Given the description of an element on the screen output the (x, y) to click on. 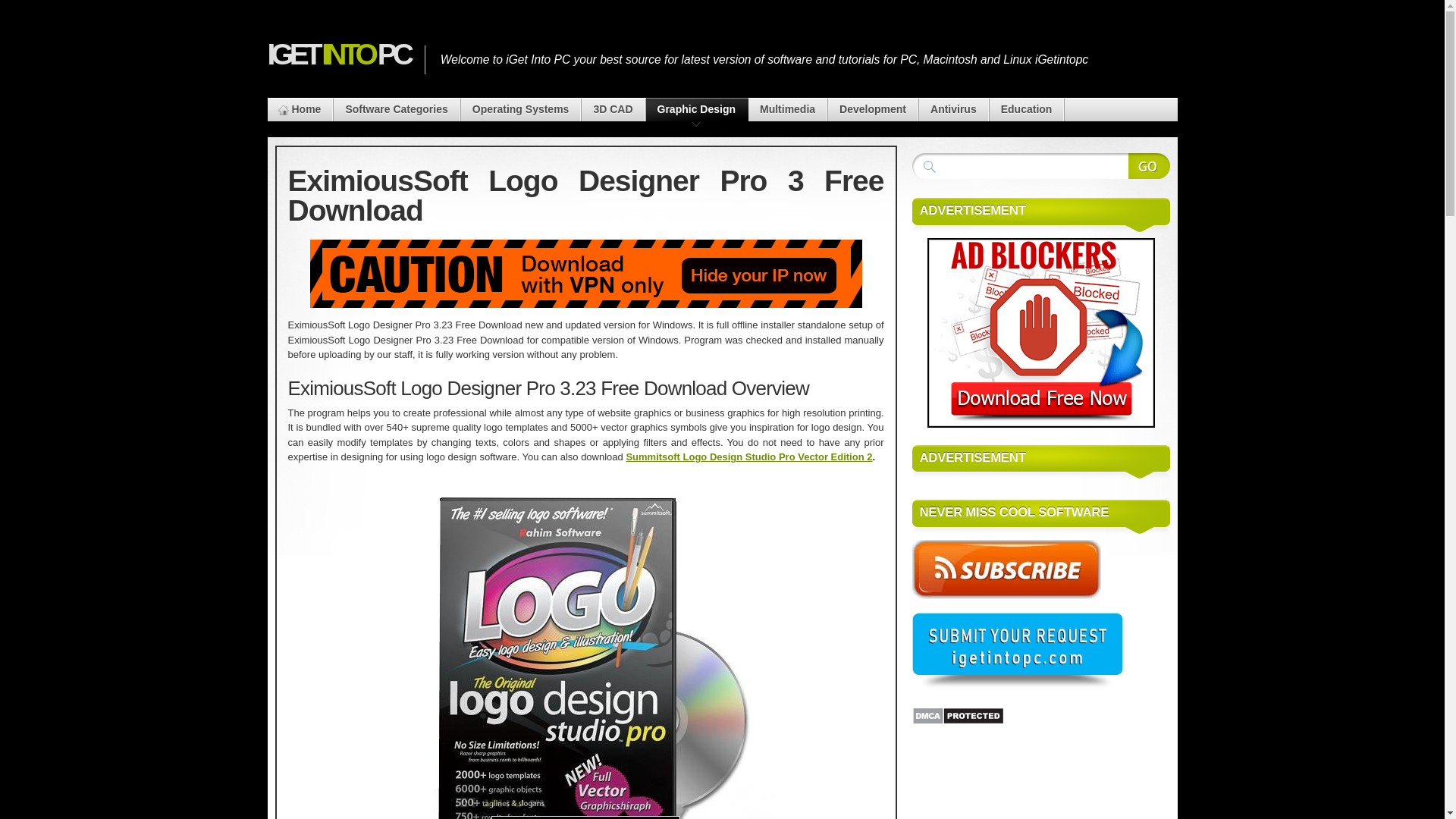
Operating Systems (520, 109)
Graphic Design (696, 109)
Software Categories (395, 109)
IGET INTO PC (337, 54)
Home (298, 109)
Antivirus (953, 109)
Education (1027, 109)
Development (872, 109)
Summitsoft Logo Design Studio Pro Vector Edition 2 (749, 456)
3D CAD (611, 109)
